Given the description of an element on the screen output the (x, y) to click on. 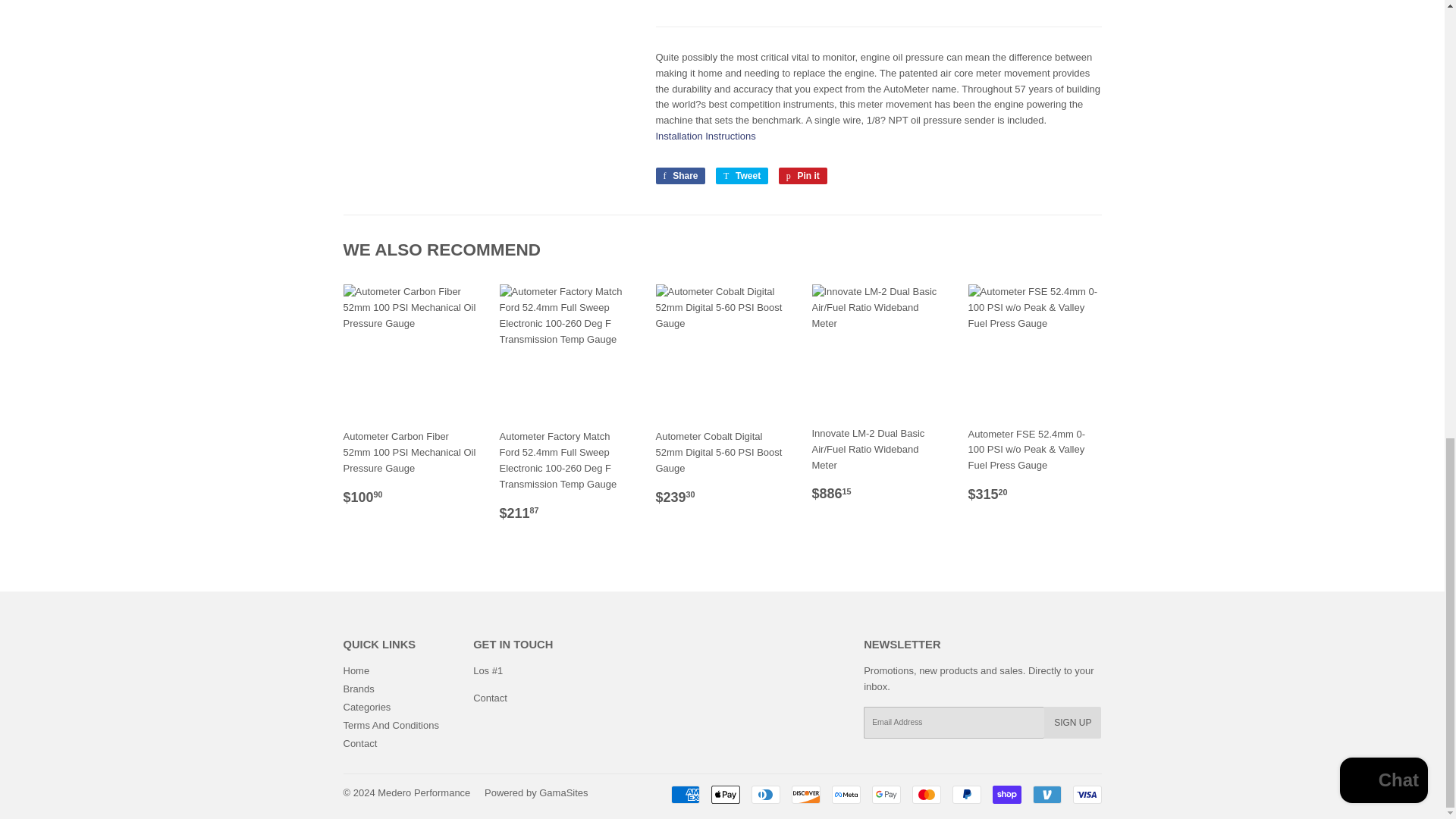
Visa (1085, 794)
Pin on Pinterest (802, 175)
Shop Pay (1005, 794)
Meta Pay (845, 794)
AutoMeter (690, 0)
Tweet on Twitter (742, 175)
Venmo (1046, 794)
Google Pay (886, 794)
American Express (683, 794)
Discover (806, 794)
